Given the description of an element on the screen output the (x, y) to click on. 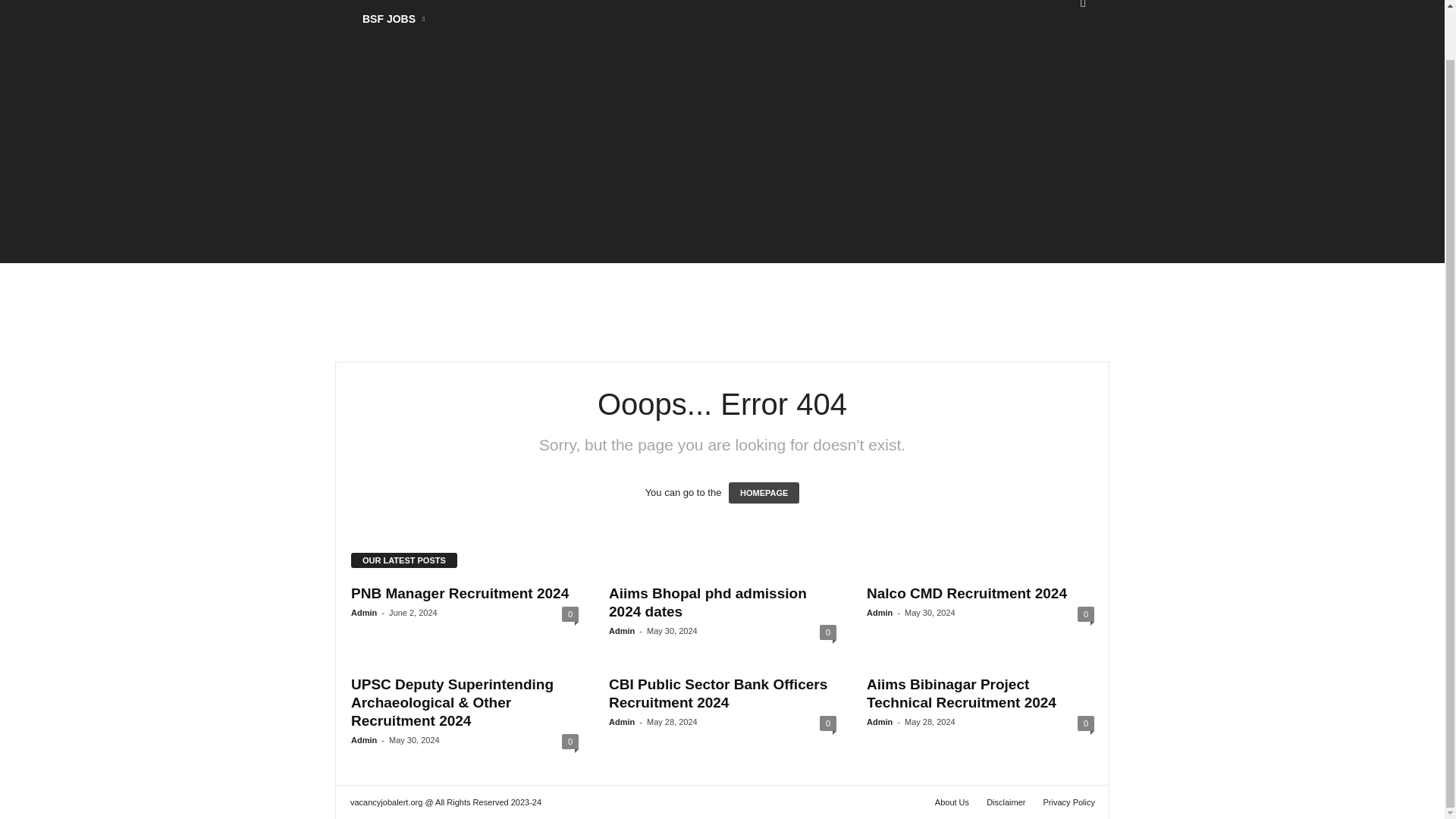
UPSC JOBS (513, 1)
VACANCY (422, 1)
PSC JOBS (606, 1)
Vacancy (357, 1)
